Given the description of an element on the screen output the (x, y) to click on. 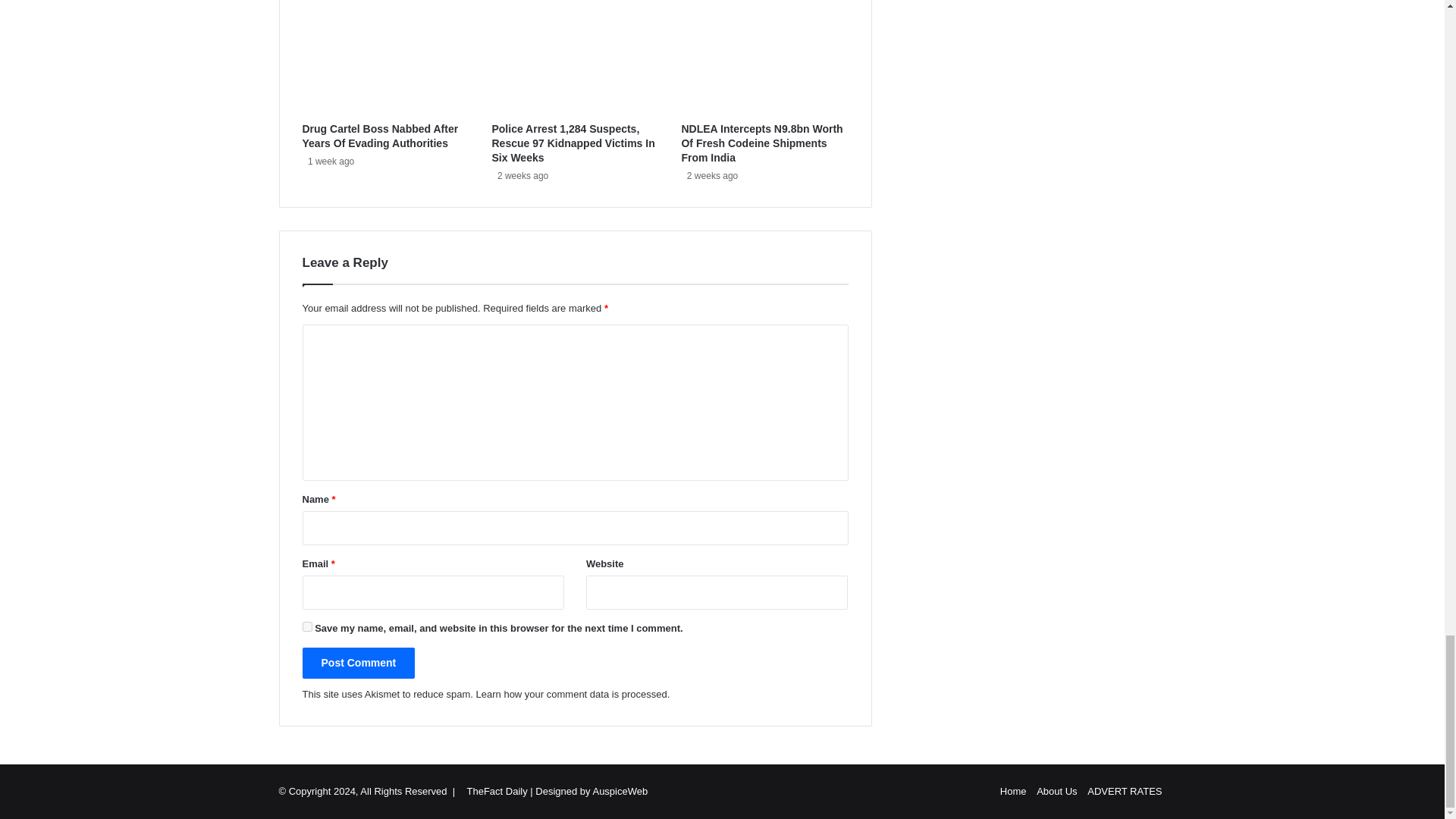
yes (306, 626)
Post Comment (357, 662)
